Given the description of an element on the screen output the (x, y) to click on. 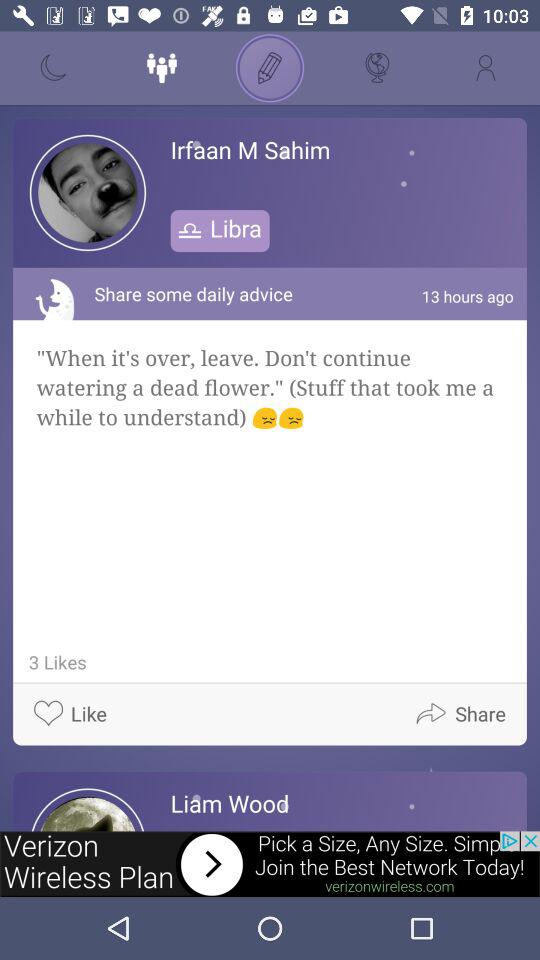
edit daily advice (269, 68)
